Given the description of an element on the screen output the (x, y) to click on. 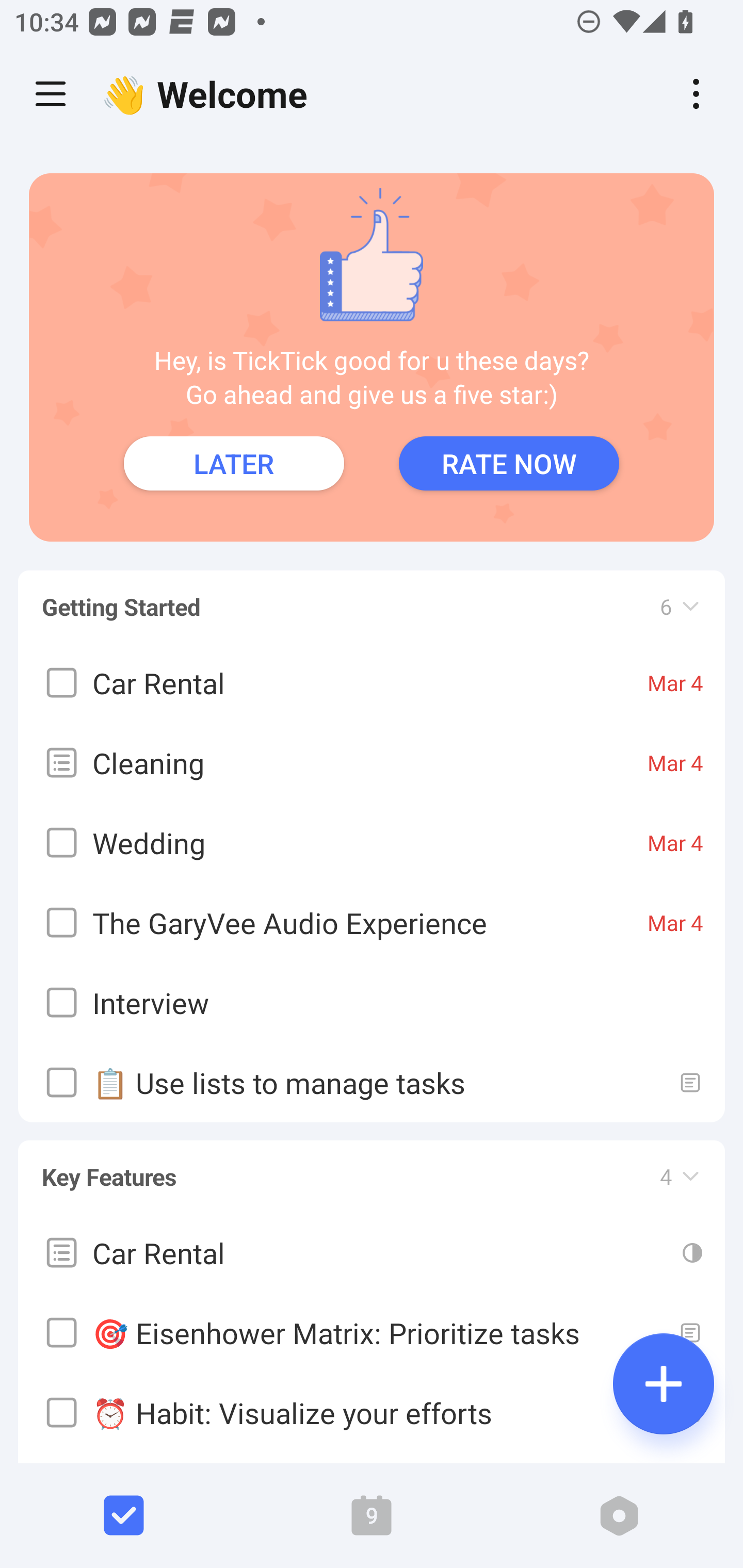
👋 Welcome (209, 93)
LATER (234, 462)
RATE NOW (508, 462)
Getting Started 6 (371, 596)
Car Rental Mar 4 (371, 682)
Mar 4 (675, 682)
Cleaning Mar 4 (371, 762)
Mar 4 (675, 762)
Wedding Mar 4 (371, 842)
Mar 4 (675, 842)
The GaryVee Audio Experience Mar 4 (371, 922)
Mar 4 (675, 922)
Interview (371, 1002)
📋 Use lists to manage tasks (371, 1082)
Key Features 4 (371, 1167)
Car Rental (371, 1252)
🎯 Eisenhower Matrix: Prioritize tasks (371, 1332)
⏰ Habit: Visualize your efforts (371, 1411)
